Given the description of an element on the screen output the (x, y) to click on. 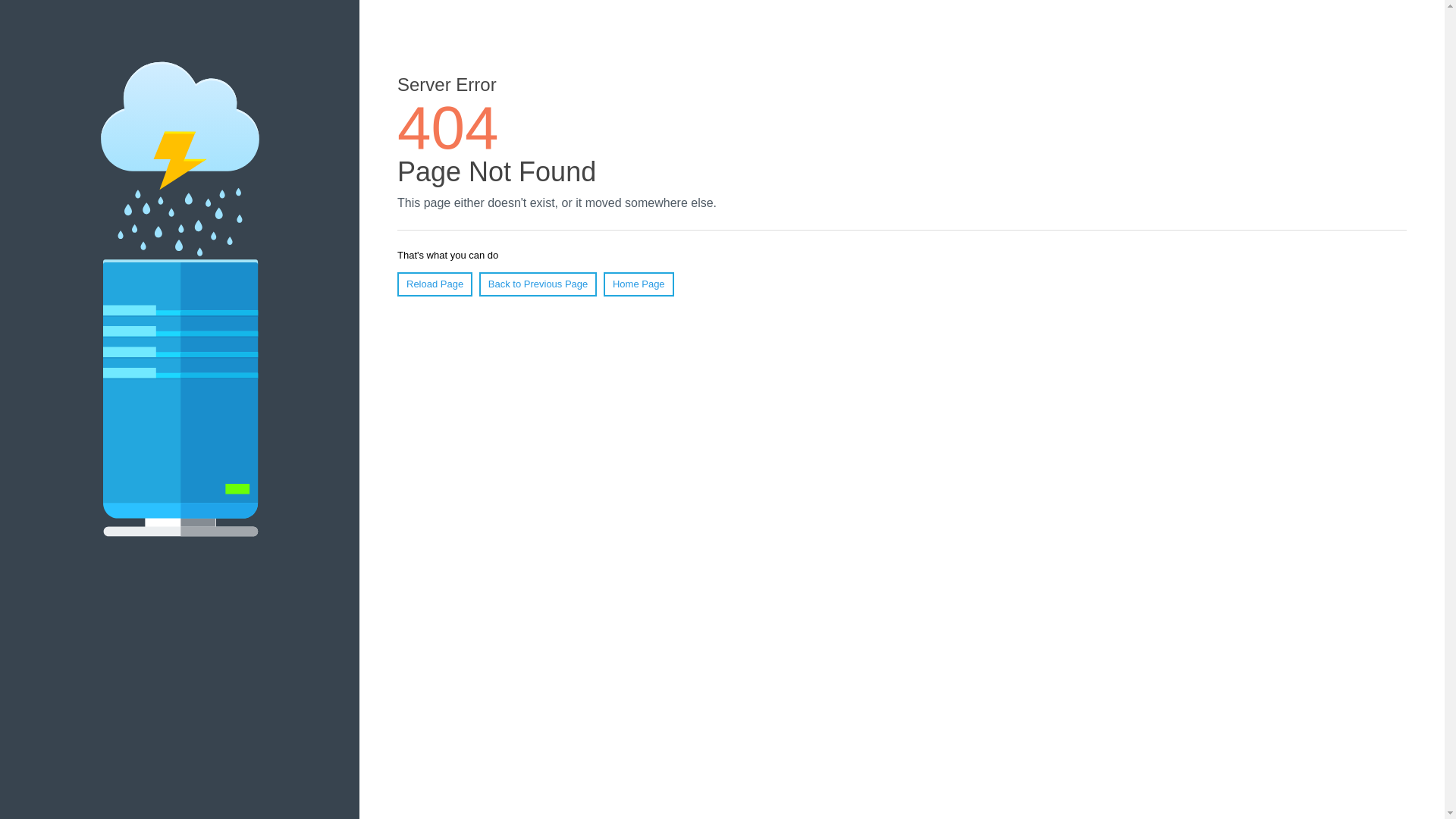
Home Page Element type: text (638, 284)
Back to Previous Page Element type: text (538, 284)
Reload Page Element type: text (434, 284)
